Given the description of an element on the screen output the (x, y) to click on. 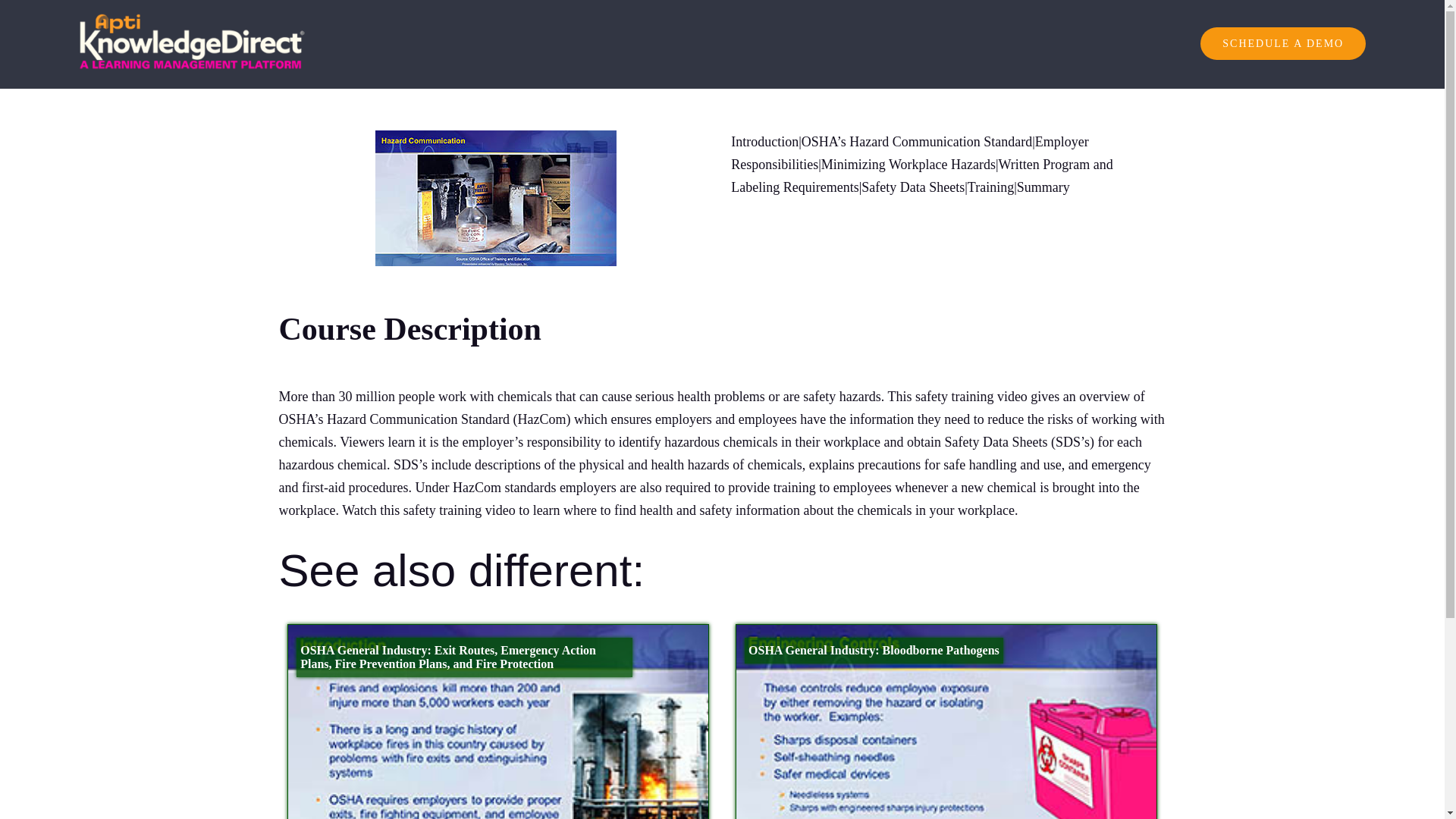
SCHEDULE A DEMO (1282, 42)
